Given the description of an element on the screen output the (x, y) to click on. 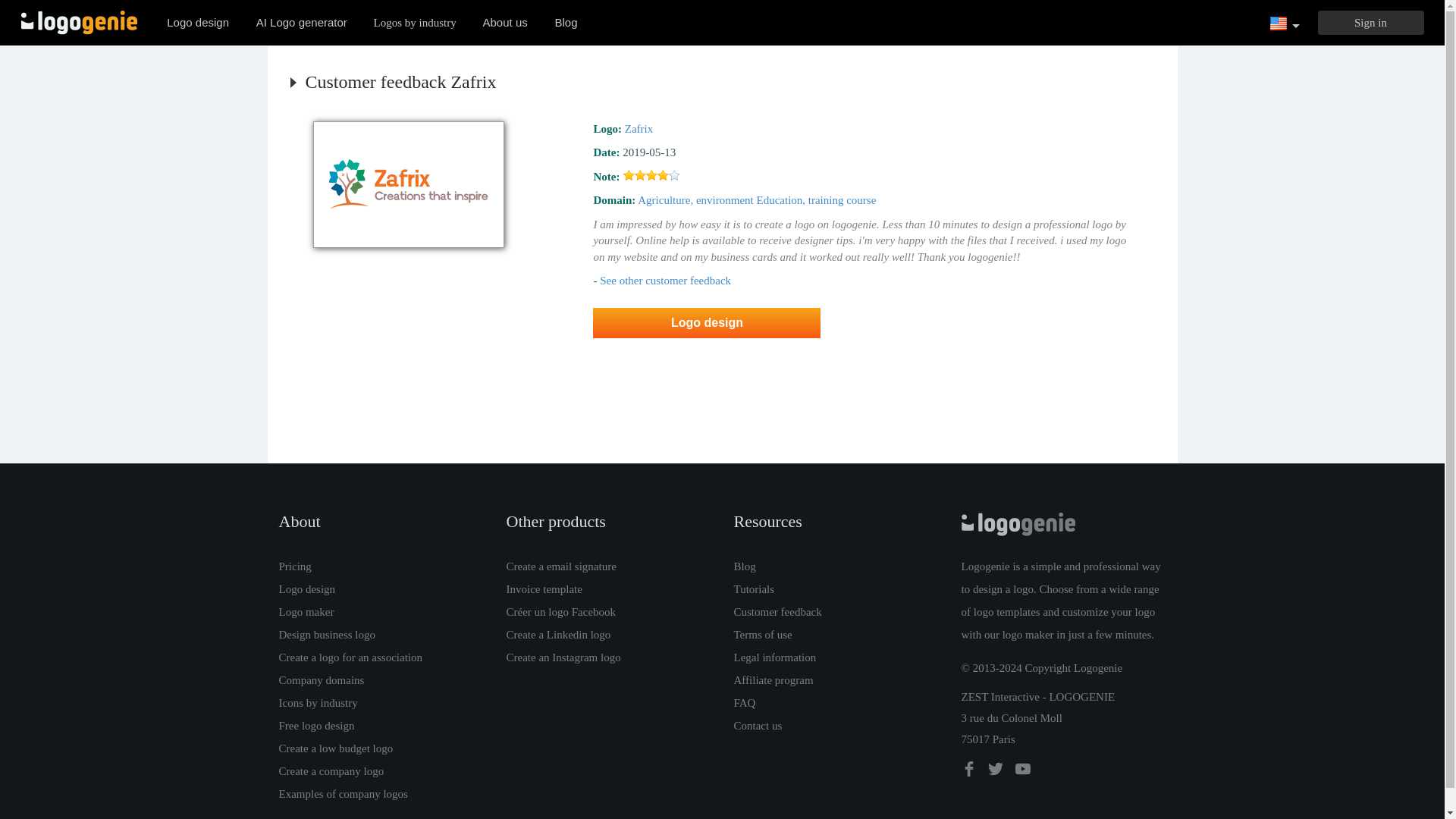
Logos by industry (414, 22)
About us (505, 22)
Back to home (78, 22)
Sign in (1370, 22)
Blog (565, 22)
Logo design (197, 22)
AI Logo generator (301, 22)
Back to home (78, 22)
AI Logo generator (301, 22)
Custom logo design (197, 22)
